Given the description of an element on the screen output the (x, y) to click on. 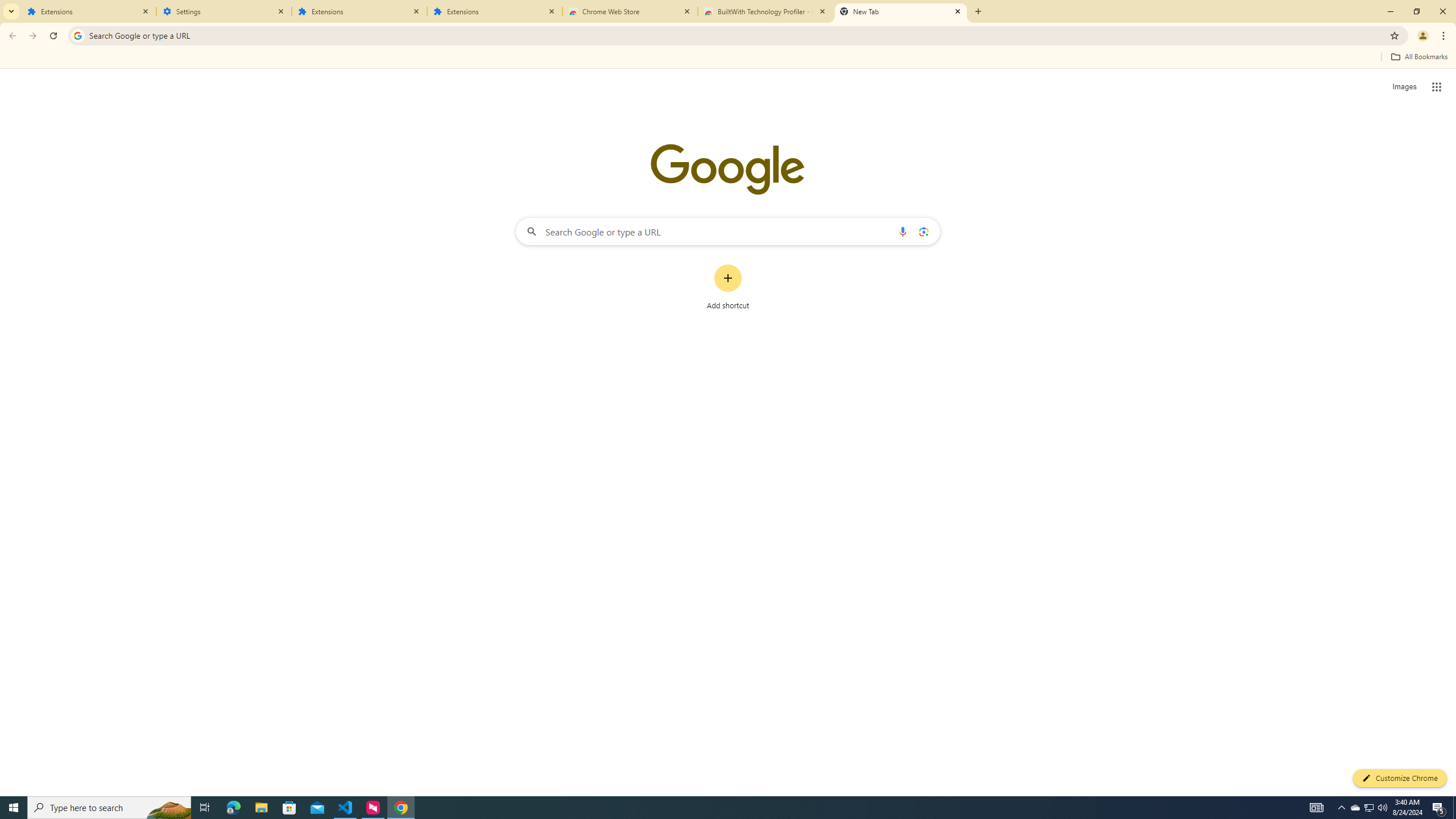
Search icon (77, 35)
New Tab (977, 11)
Search Google or type a URL (727, 230)
